Given the description of an element on the screen output the (x, y) to click on. 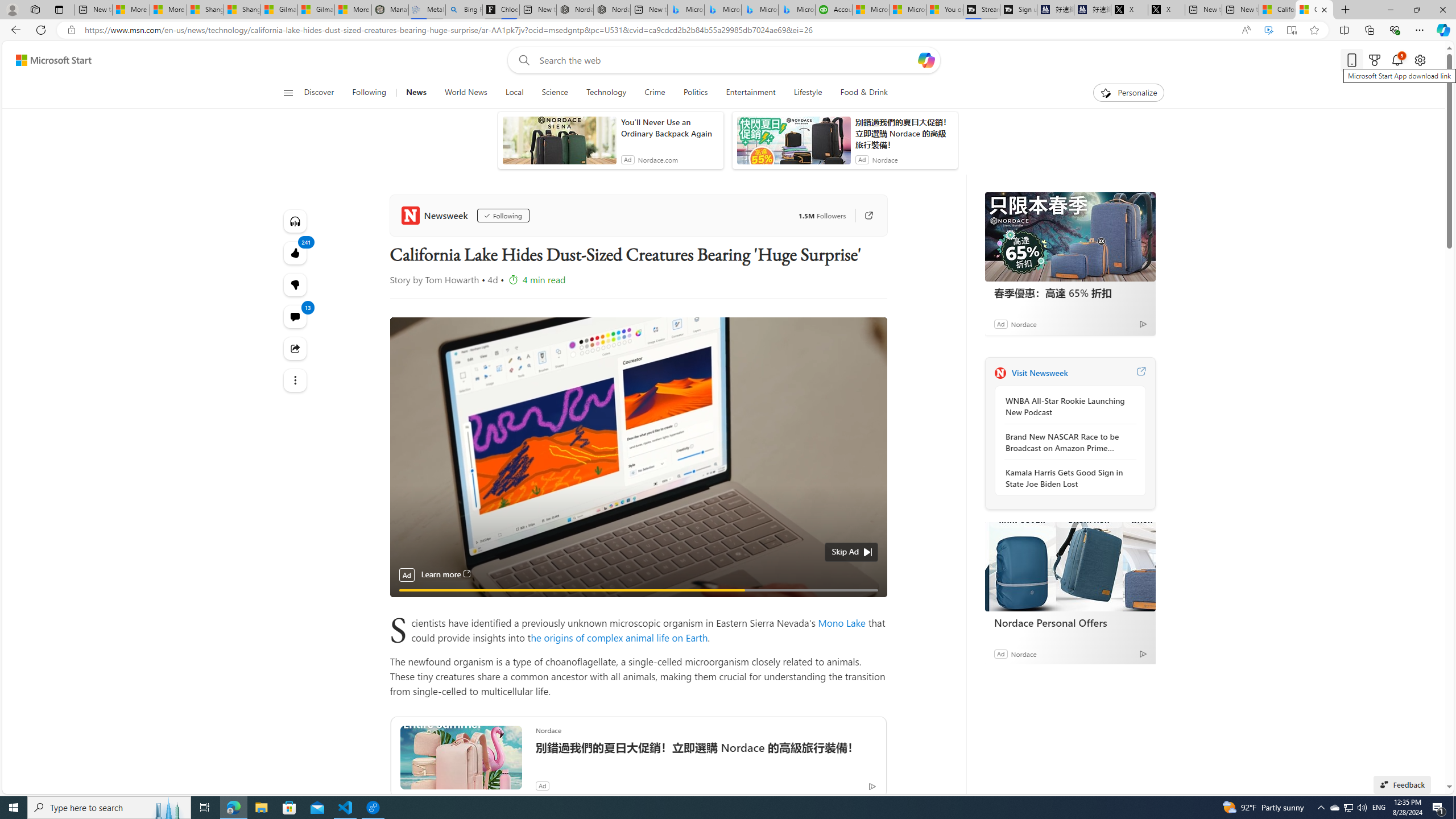
Enter Immersive Reader (F9) (1291, 29)
Unmute (871, 603)
Share this story (295, 348)
Lifestyle (807, 92)
